Given the description of an element on the screen output the (x, y) to click on. 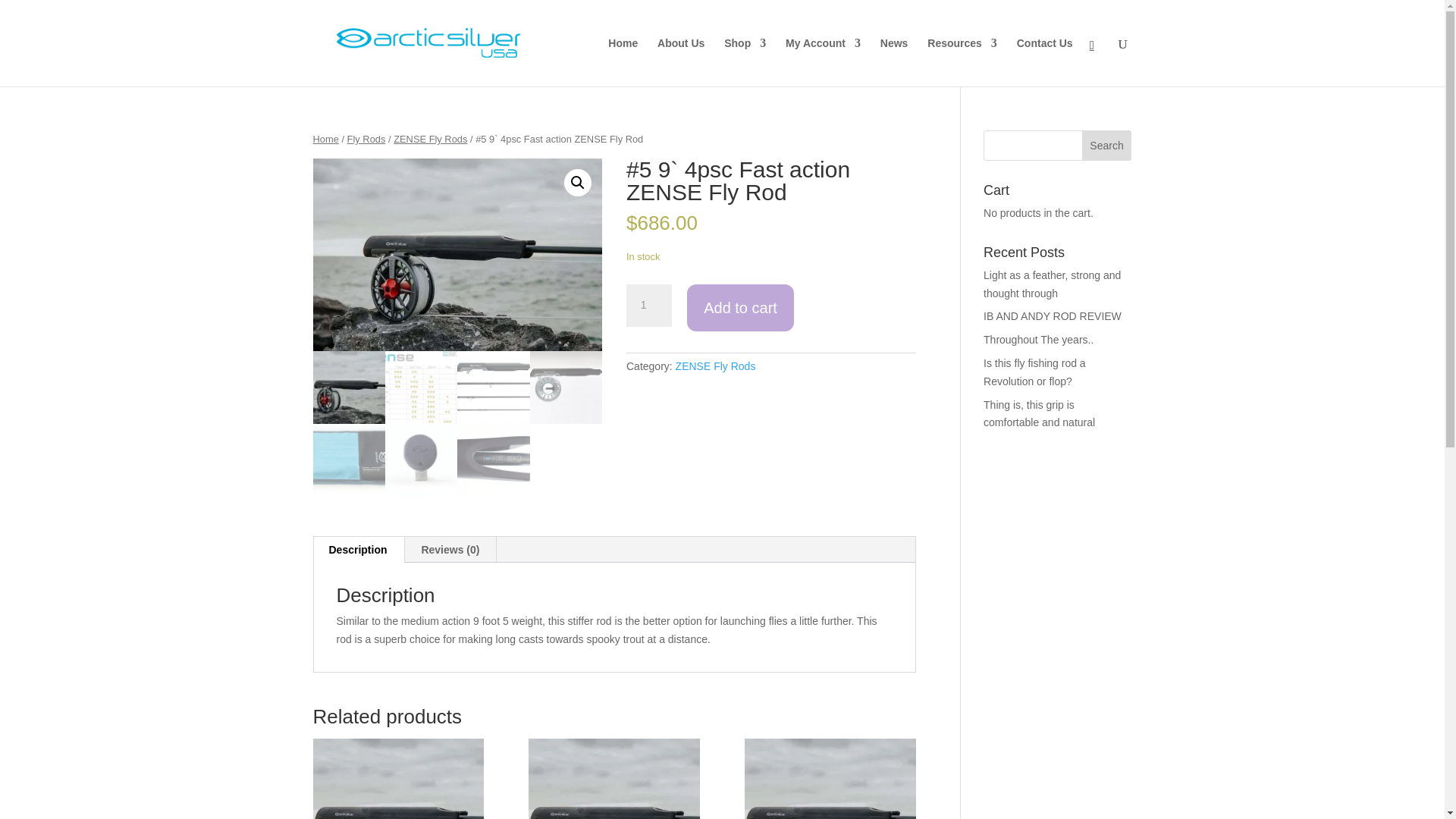
Home (325, 138)
ArcticSilver USA Fly Fishing rod and line (457, 254)
Contact Us (1044, 61)
Home (622, 61)
1 (648, 305)
Search (1106, 145)
About Us (681, 61)
Shop (744, 61)
My Account (823, 61)
News (894, 61)
Fly Rods (366, 138)
Resources (962, 61)
